Given the description of an element on the screen output the (x, y) to click on. 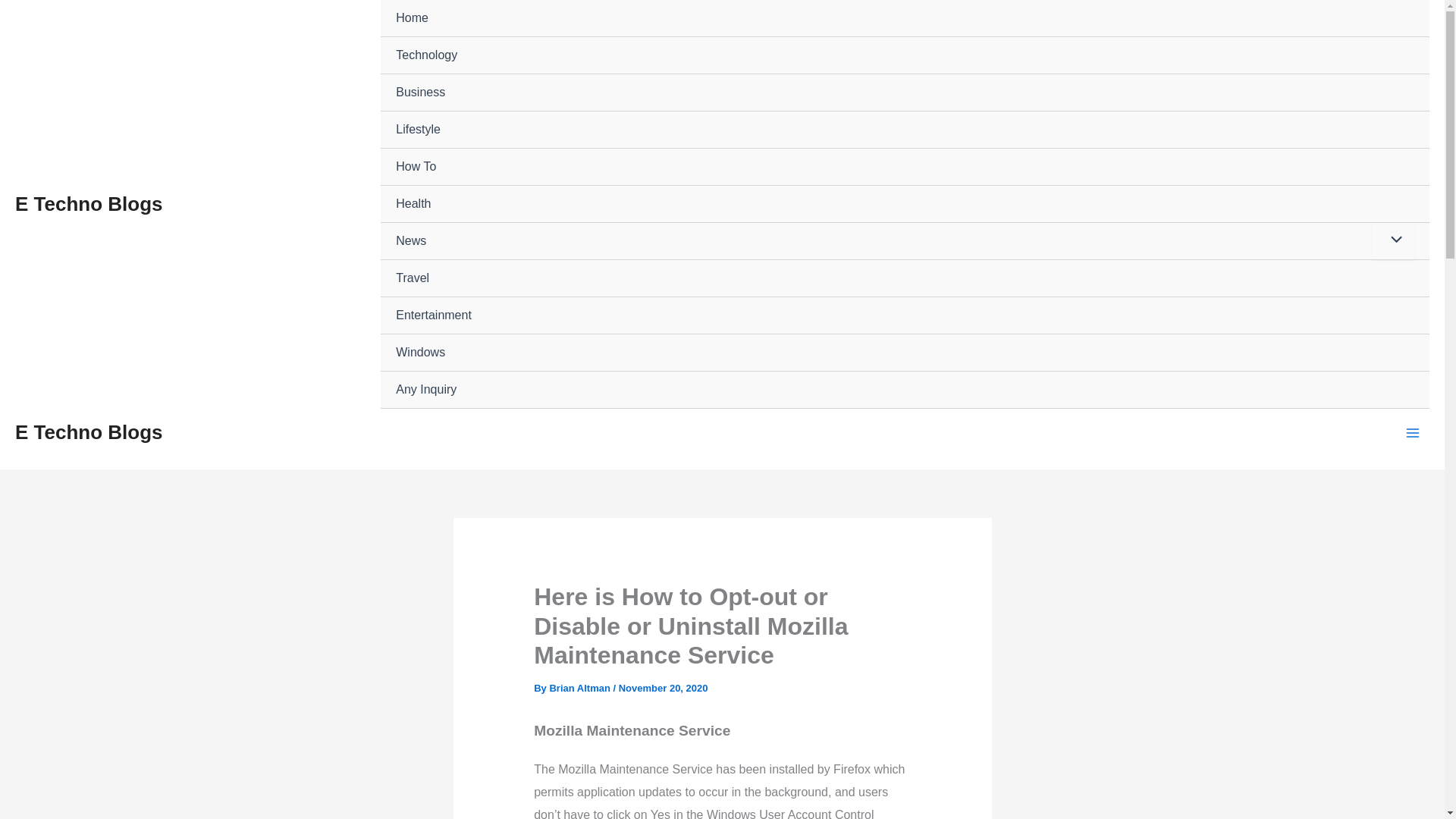
Entertainment (904, 315)
Technology (904, 55)
News (904, 241)
Travel (904, 278)
Any Inquiry (904, 389)
Menu Toggle (1392, 240)
E Techno Blogs (88, 431)
Main Menu (1412, 432)
Business (904, 92)
Lifestyle (904, 129)
